Given the description of an element on the screen output the (x, y) to click on. 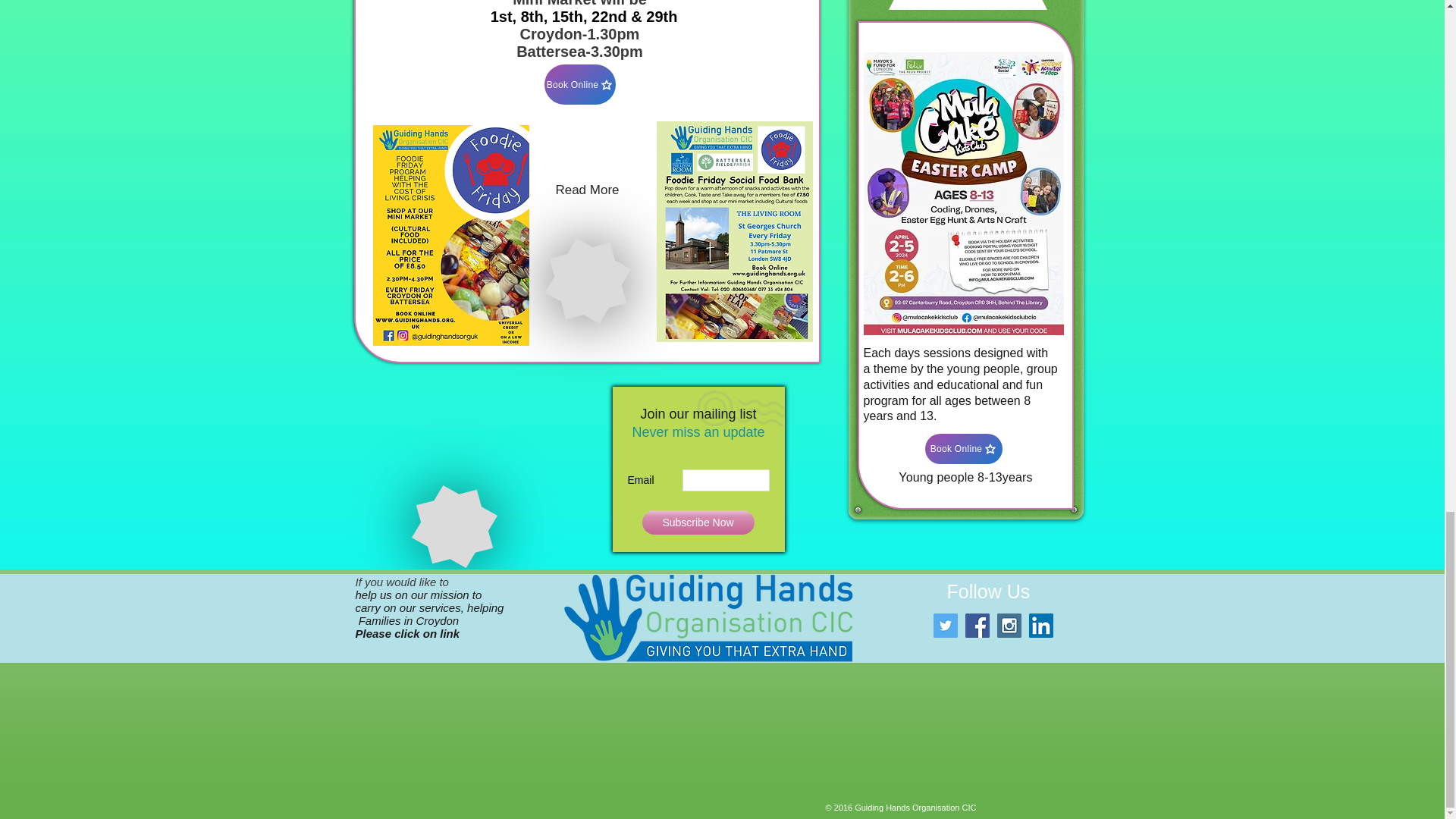
Book Online (579, 84)
Book Online (963, 449)
Subscribe Now (698, 522)
Read More (588, 190)
